Given the description of an element on the screen output the (x, y) to click on. 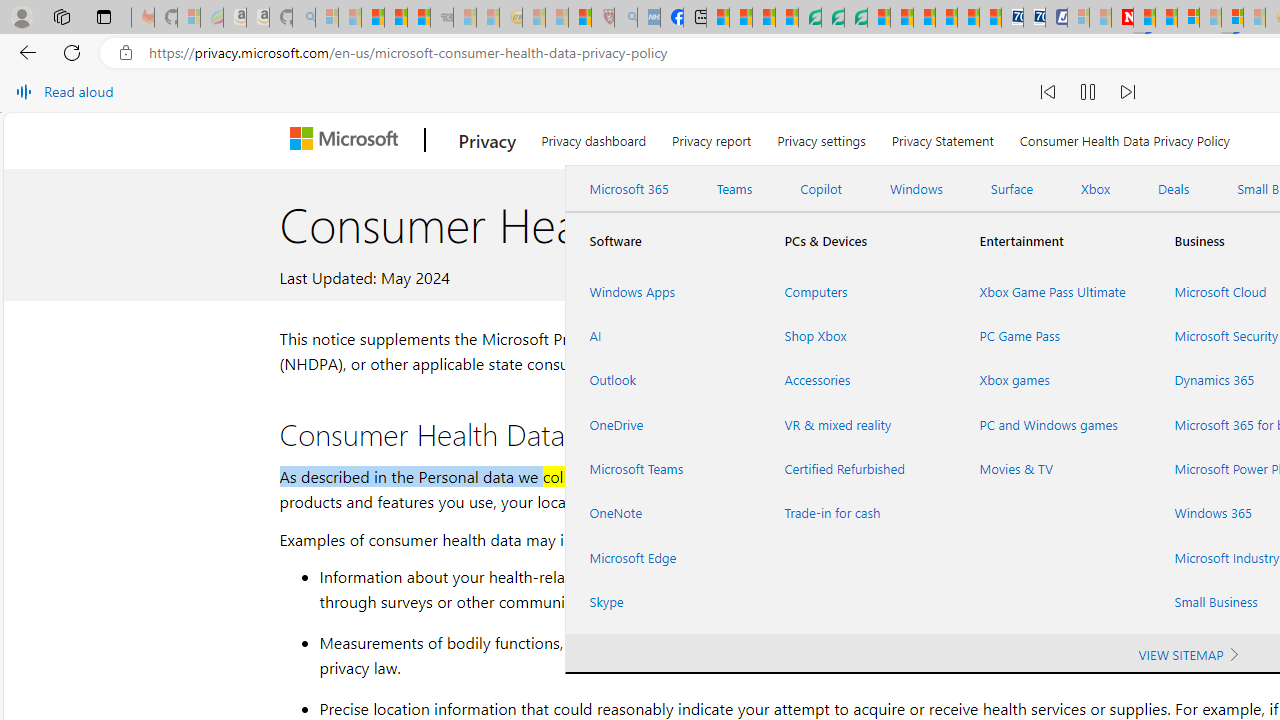
Accessories (858, 380)
Privacy Statement (942, 137)
The Weather Channel - MSN (372, 17)
Microsoft Teams (662, 468)
Deals (1173, 189)
Windows (915, 189)
Microsoft Edge (662, 557)
Microsoft (348, 140)
OneNote (662, 513)
Xbox games (1052, 380)
Cheap Car Rentals - Save70.com (1012, 17)
Combat Siege (442, 17)
Microsoft-Report a Concern to Bing - Sleeping (188, 17)
